Given the description of an element on the screen output the (x, y) to click on. 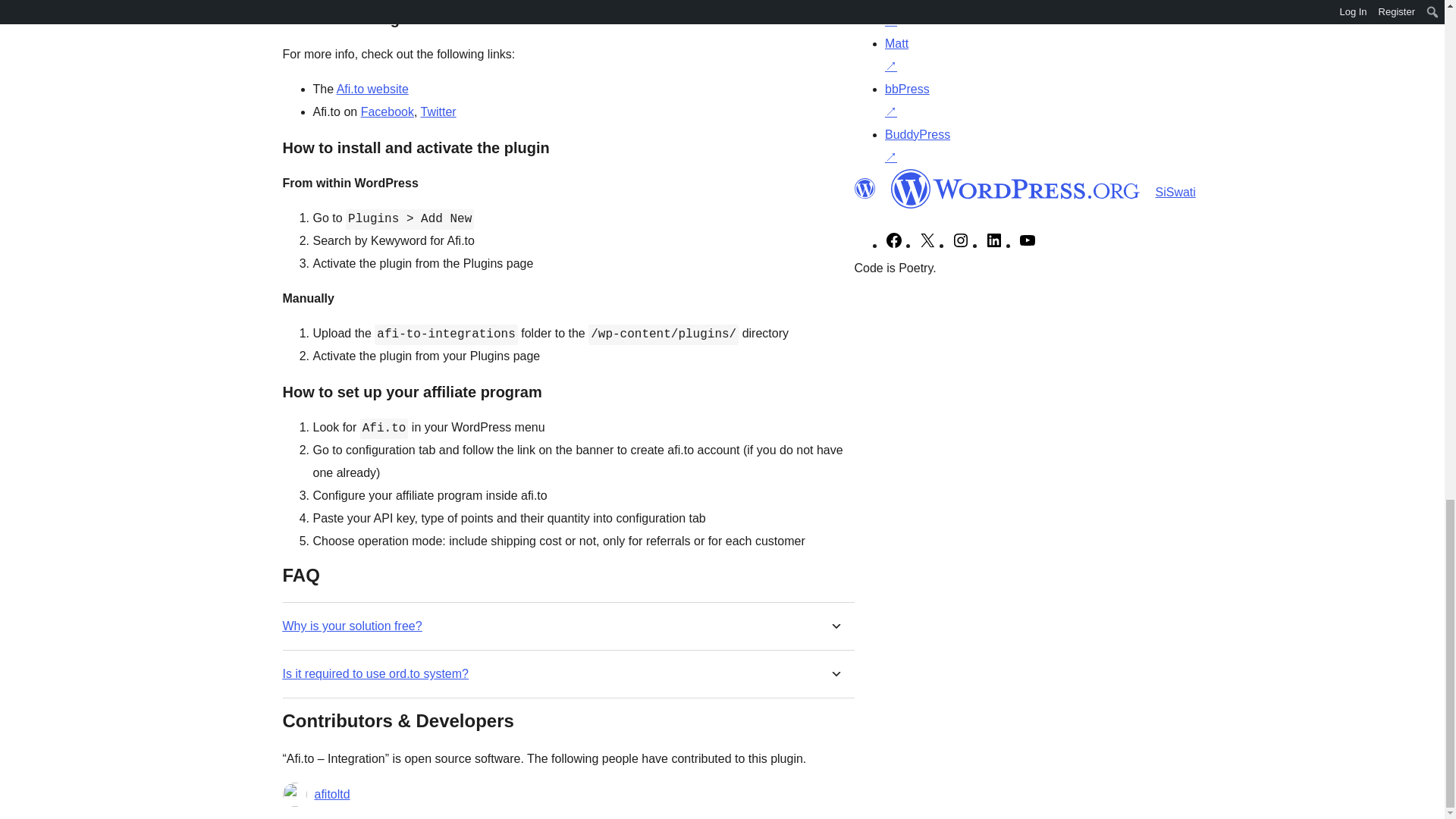
afitoltd (331, 793)
WordPress.org (864, 188)
WordPress.org (1014, 188)
Afi.to website (372, 88)
Is it required to use ord.to system? (374, 673)
Why is your solution free? (352, 626)
Twitter (438, 111)
Facebook (387, 111)
